Given the description of an element on the screen output the (x, y) to click on. 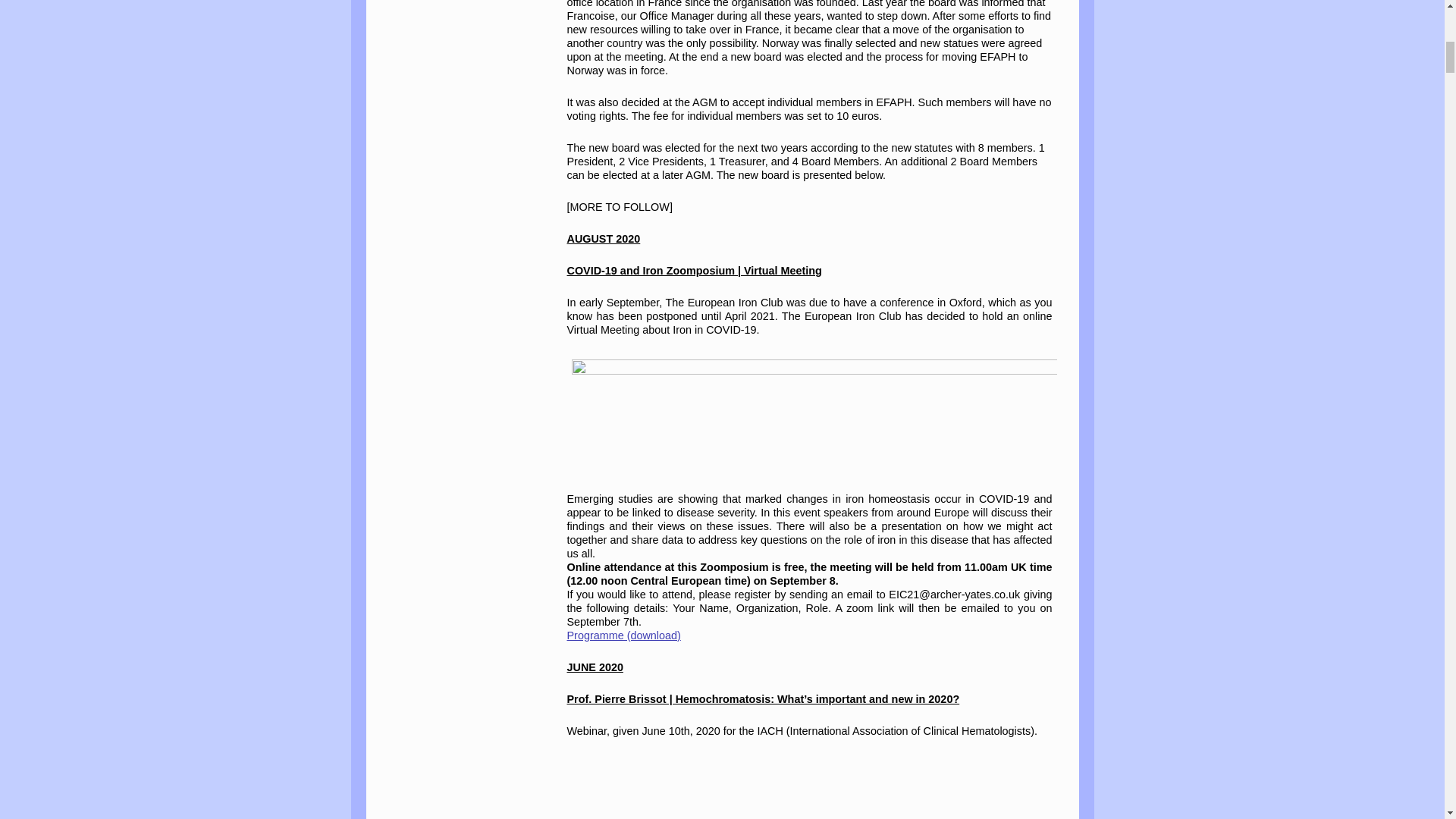
cropped-image.imageformat.carousel.1292005609 (814, 413)
